Given the description of an element on the screen output the (x, y) to click on. 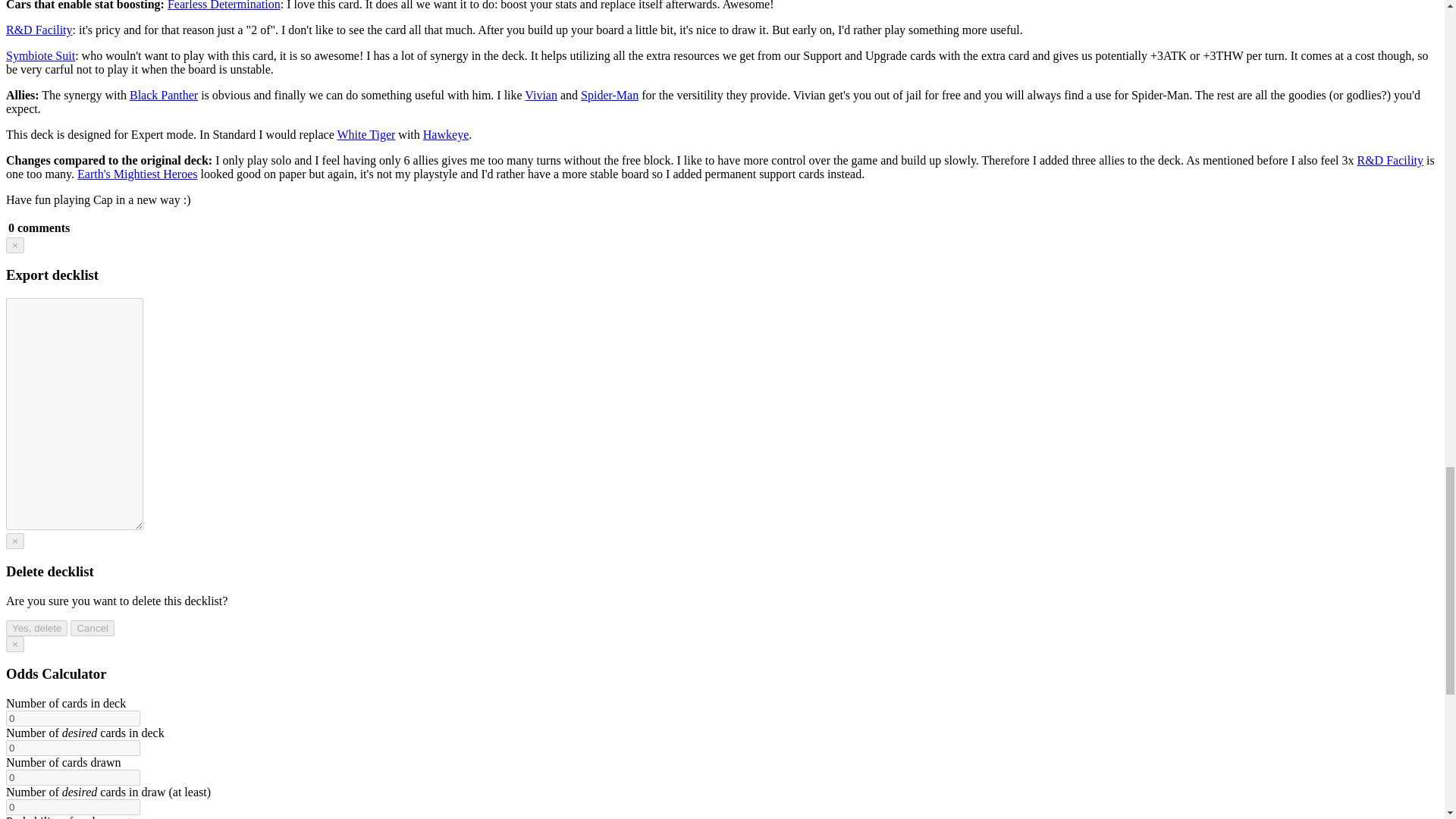
0 (72, 777)
0 (72, 747)
0 (72, 718)
0 (72, 806)
